Given the description of an element on the screen output the (x, y) to click on. 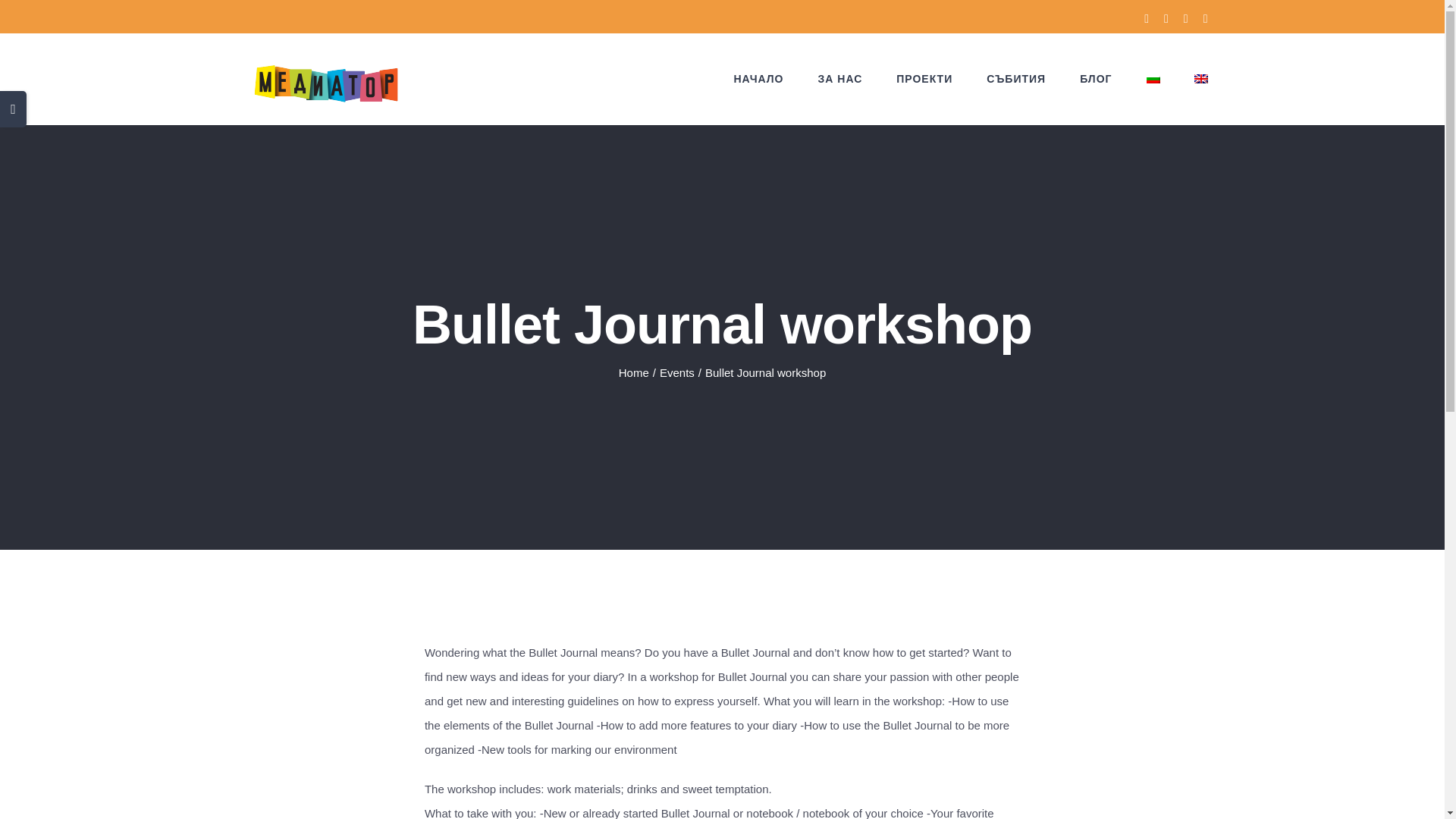
YouTube (1206, 19)
LinkedIn (1185, 19)
Facebook (1146, 19)
Instagram (1166, 19)
